Given the description of an element on the screen output the (x, y) to click on. 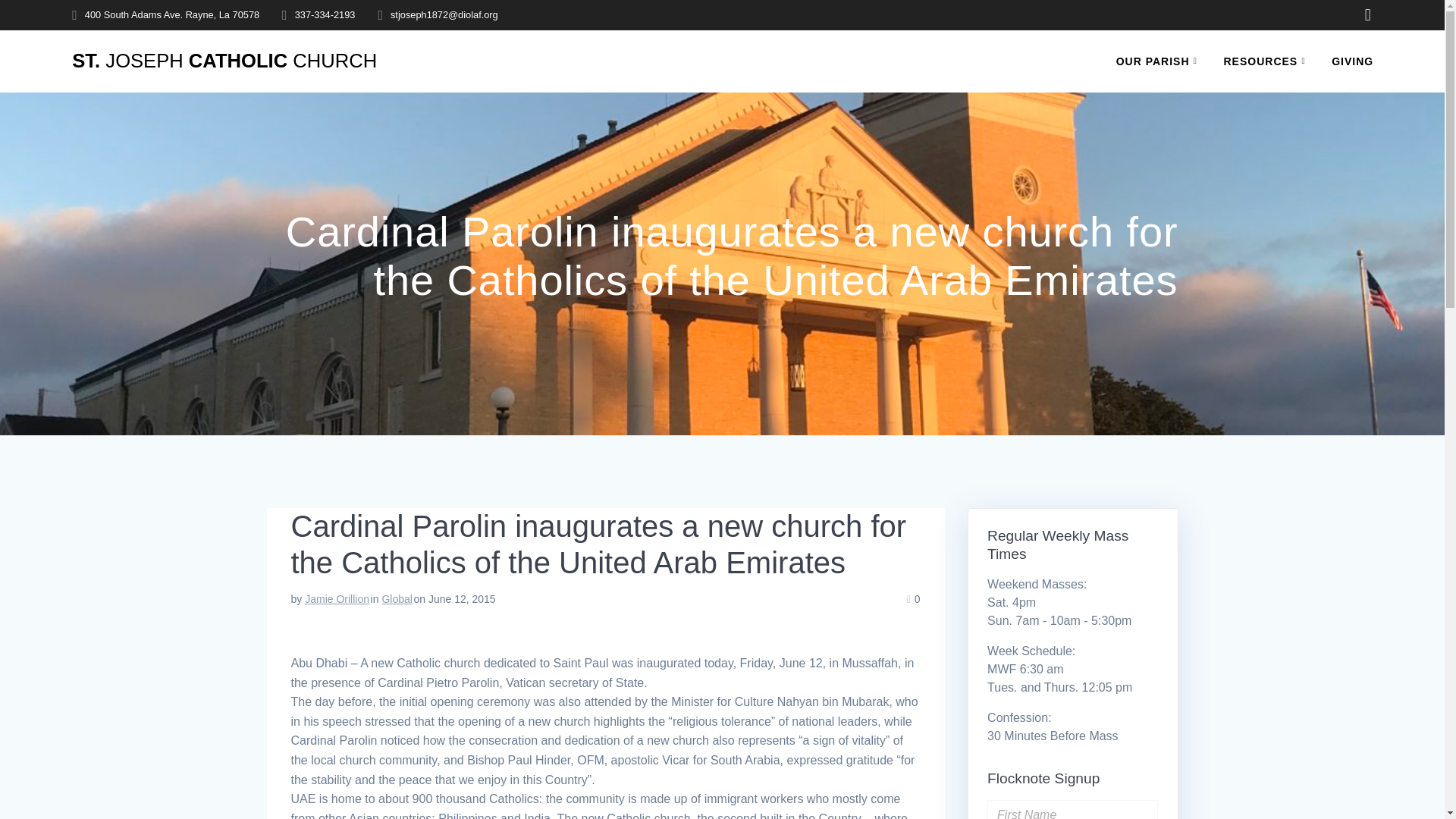
Jamie Orillion (336, 598)
Posts by Jamie Orillion (336, 598)
OUR PARISH (1160, 61)
RESOURCES (1267, 61)
ST. JOSEPH CATHOLIC CHURCH (224, 61)
Global (396, 598)
GIVING (1352, 61)
